Given the description of an element on the screen output the (x, y) to click on. 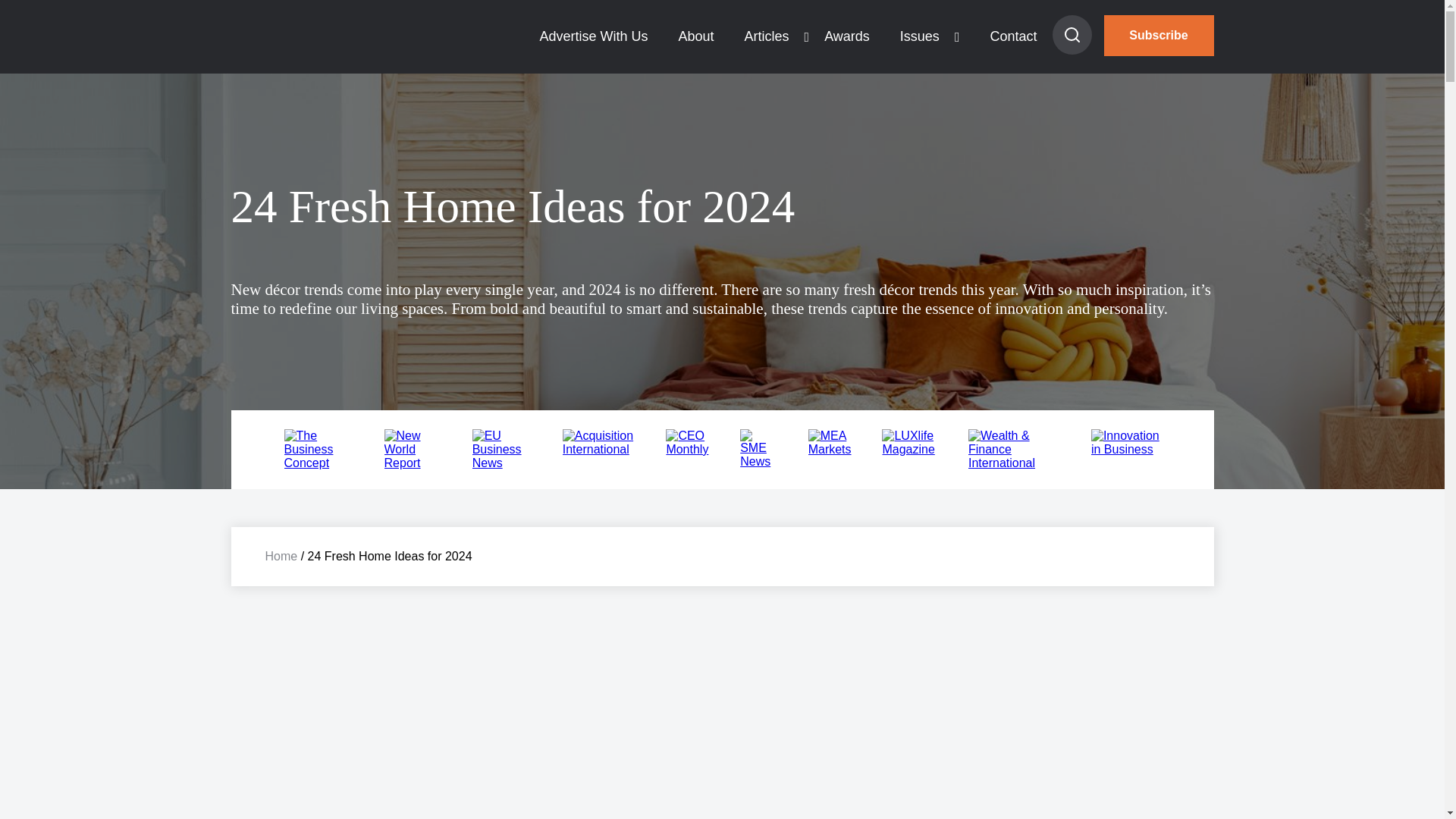
The Business Concept (318, 462)
Awards (847, 36)
SME News (758, 461)
Articles (767, 36)
CEO Monthly (687, 449)
Innovation in Business (1125, 449)
LUXlife Magazine (909, 449)
Subscribe (1158, 35)
Advertise With Us (593, 36)
About (695, 36)
